Given the description of an element on the screen output the (x, y) to click on. 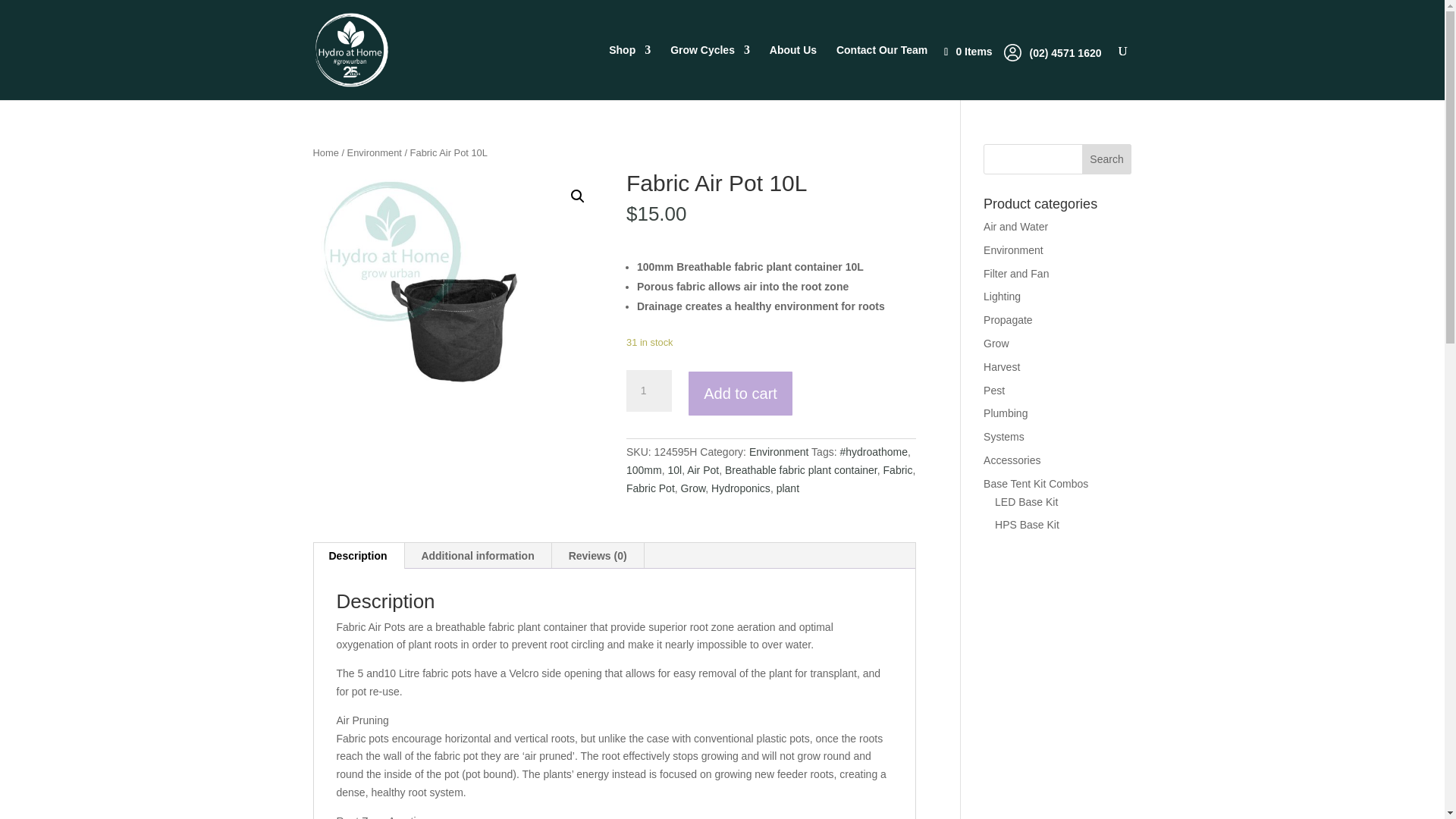
Home (325, 152)
Contact Our Team (881, 72)
0 Items (975, 51)
124595 (457, 316)
1 (648, 391)
Search (1106, 159)
Environment (374, 152)
Grow Cycles (709, 72)
